Given the description of an element on the screen output the (x, y) to click on. 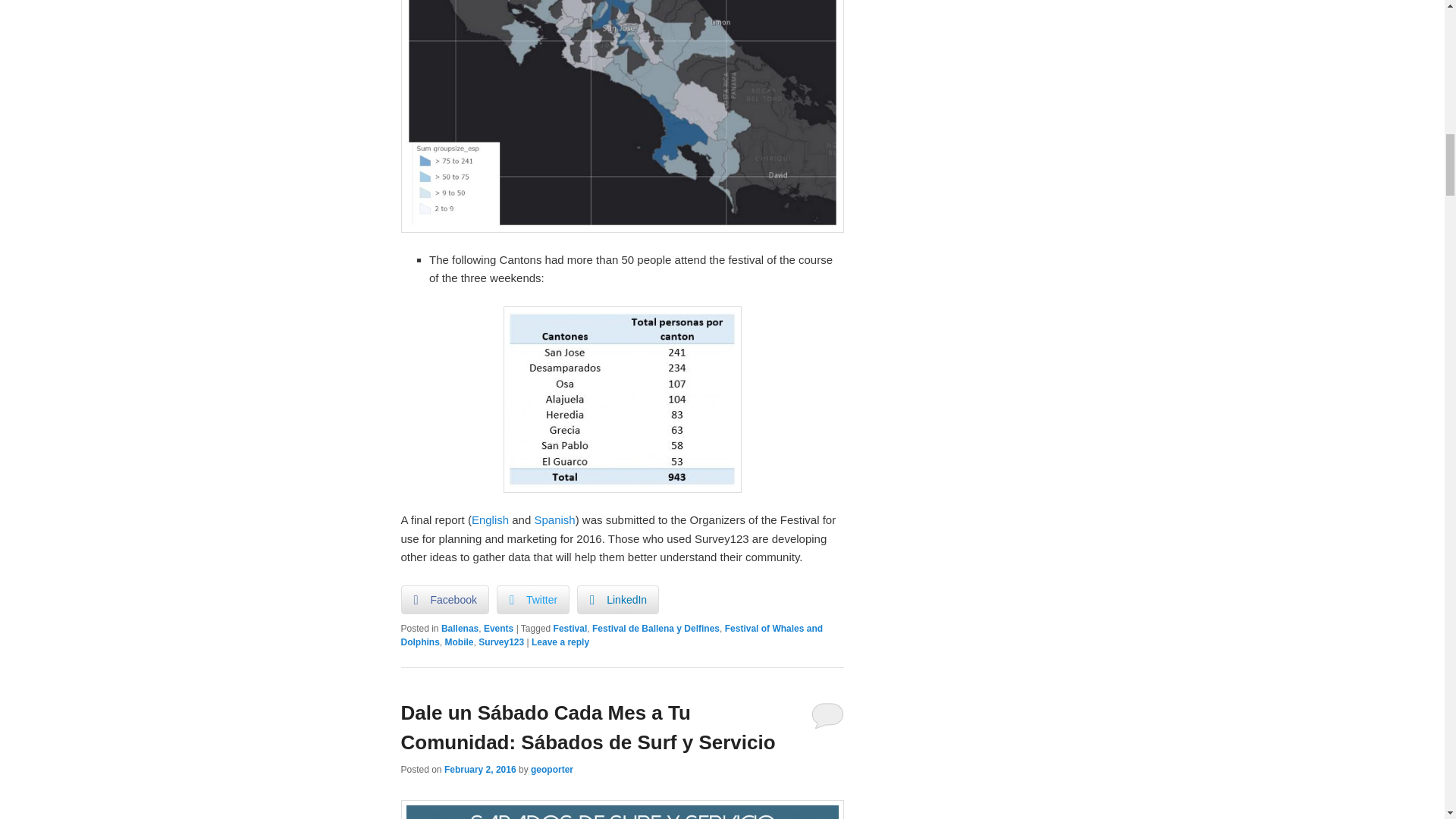
Spanish (554, 519)
Twitter (532, 599)
Facebook (443, 599)
Ballenas (460, 628)
View all posts by geoporter (552, 769)
LinkedIn (617, 599)
4:31 pm (480, 769)
English (489, 519)
